Given the description of an element on the screen output the (x, y) to click on. 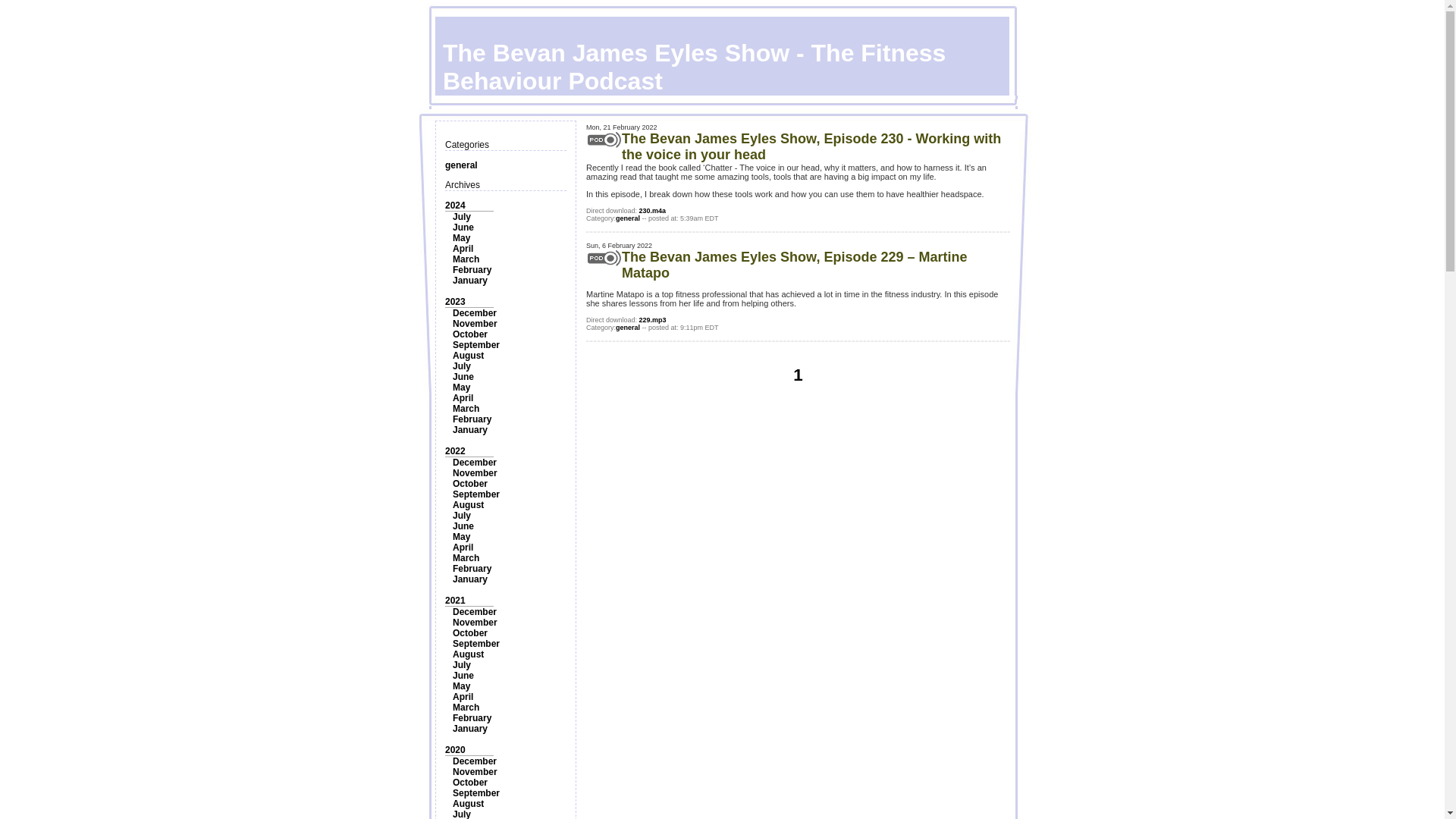
March (465, 557)
2024 (455, 204)
January (469, 280)
September (475, 344)
2023 (455, 301)
February (472, 568)
November (474, 472)
2021 (455, 600)
November (474, 323)
July (461, 216)
December (474, 312)
July (461, 366)
2022 (455, 450)
September (475, 643)
August (467, 355)
